Given the description of an element on the screen output the (x, y) to click on. 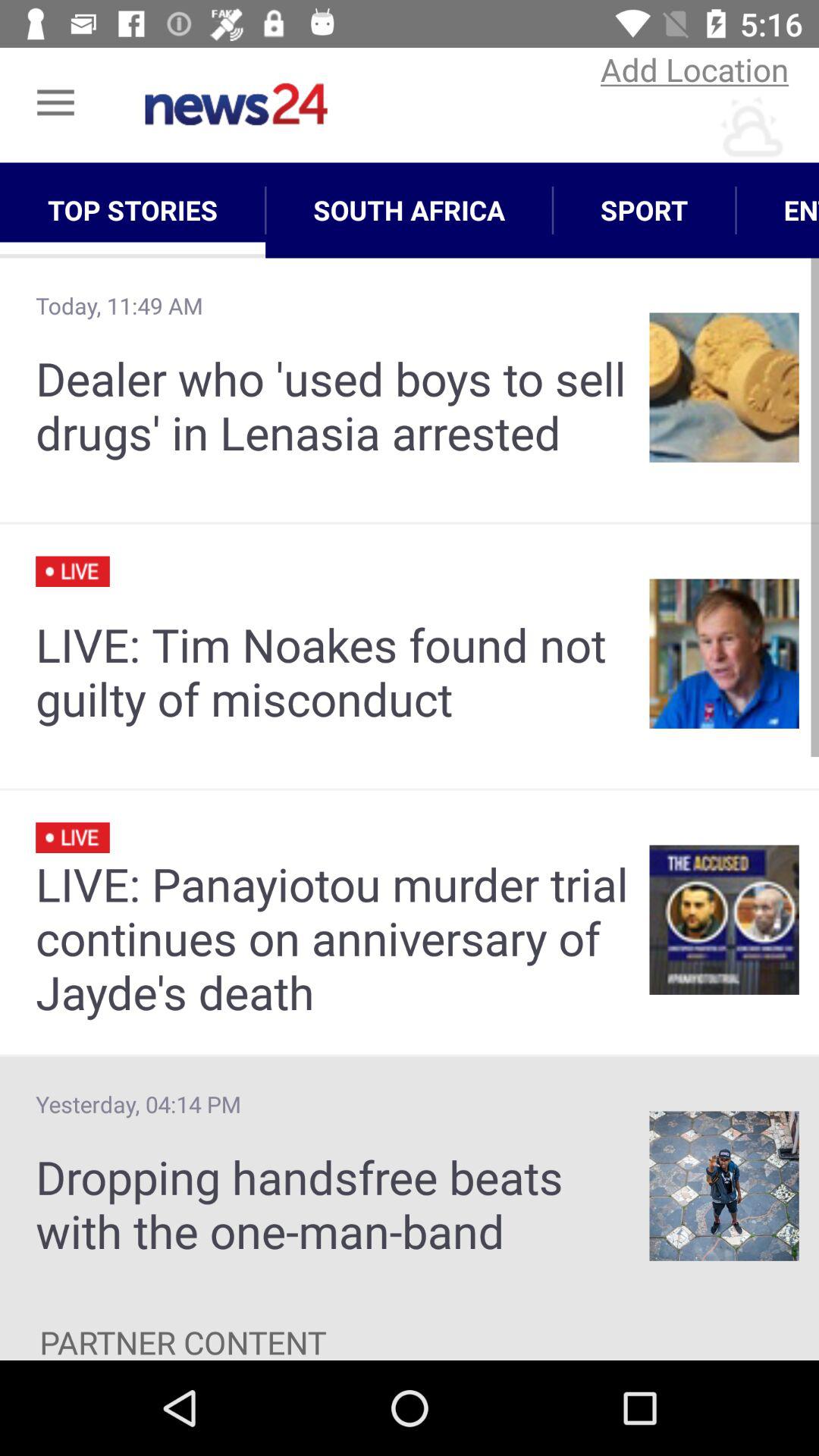
select the entertainment app (777, 210)
